Given the description of an element on the screen output the (x, y) to click on. 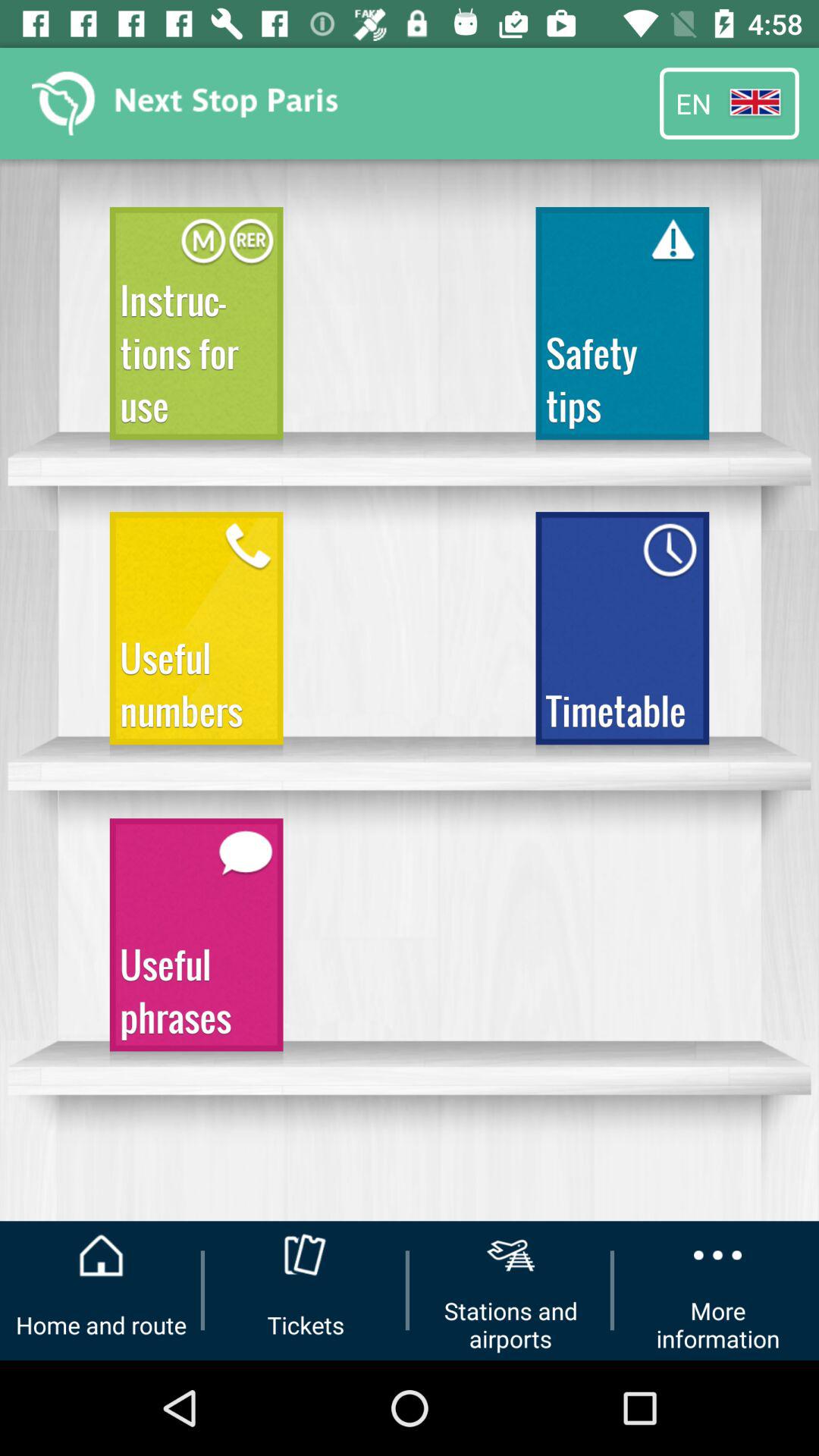
turn on timetable icon (622, 634)
